Given the description of an element on the screen output the (x, y) to click on. 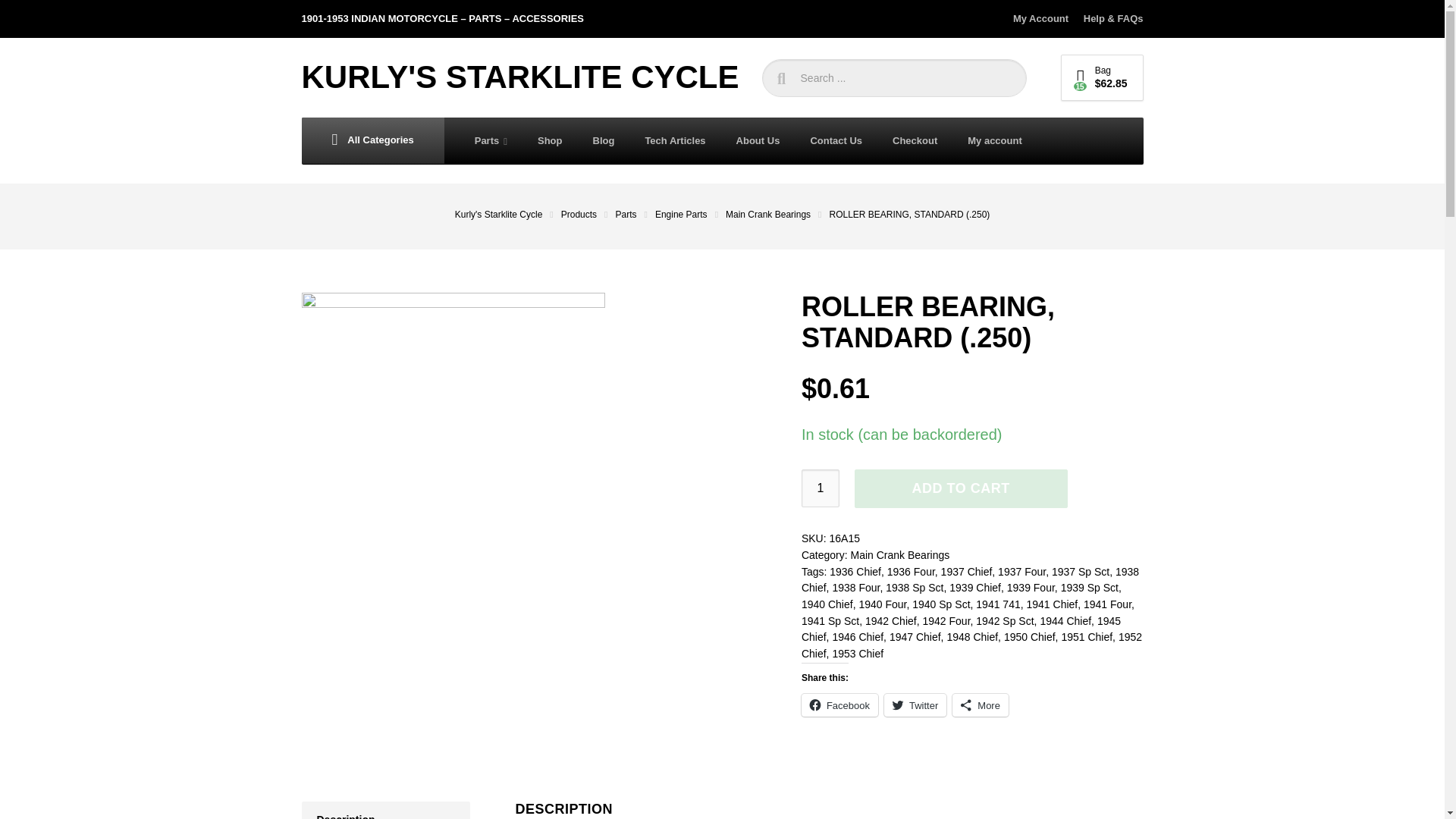
Kurly's Starklite Cycle (507, 214)
Parts (635, 214)
Blog (604, 140)
1936 Four (910, 571)
1936 Chief (854, 571)
1937 Four (1021, 571)
Go to the Parts Category archives. (635, 214)
About Us (757, 140)
Checkout (914, 140)
1937 Chief (966, 571)
All Categories (372, 140)
Products (587, 214)
Main Crank Bearings (776, 214)
My Account (1043, 18)
KURLY'S STARKLITE CYCLE (520, 76)
